Given the description of an element on the screen output the (x, y) to click on. 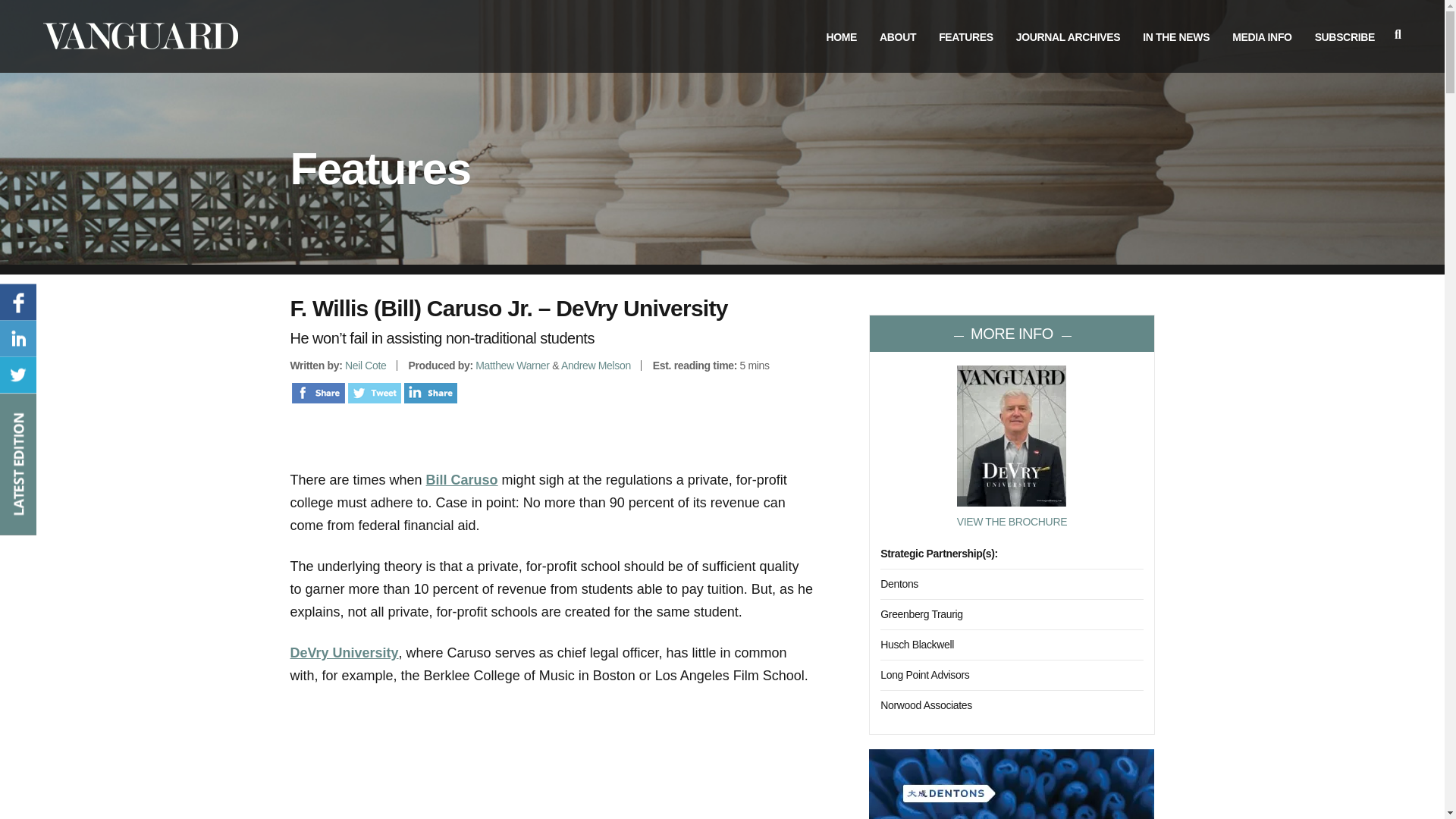
SUBSCRIBE (1344, 37)
IN THE NEWS (1175, 37)
Matthew Warner (512, 365)
FEATURES (965, 37)
MEDIA INFO (1261, 37)
ABOUT (897, 37)
VIEW THE BROCHURE (1011, 521)
Neil Cote (365, 365)
Dentons (899, 583)
JOURNAL ARCHIVES (1068, 37)
DeVry University (343, 652)
Andrew Melson (595, 365)
HOME (841, 37)
Bill Caruso (461, 479)
